Given the description of an element on the screen output the (x, y) to click on. 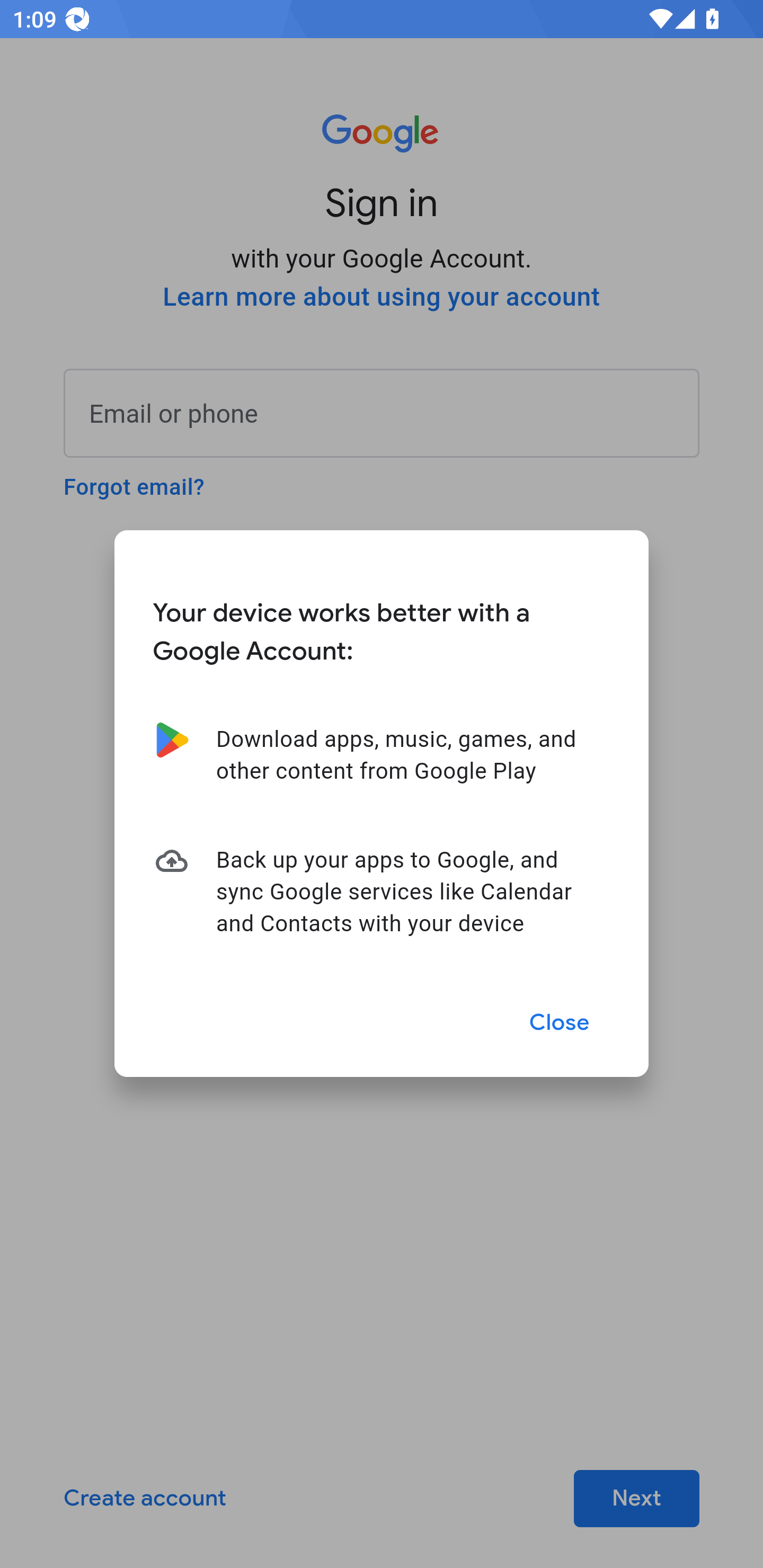
Close (559, 1022)
